Given the description of an element on the screen output the (x, y) to click on. 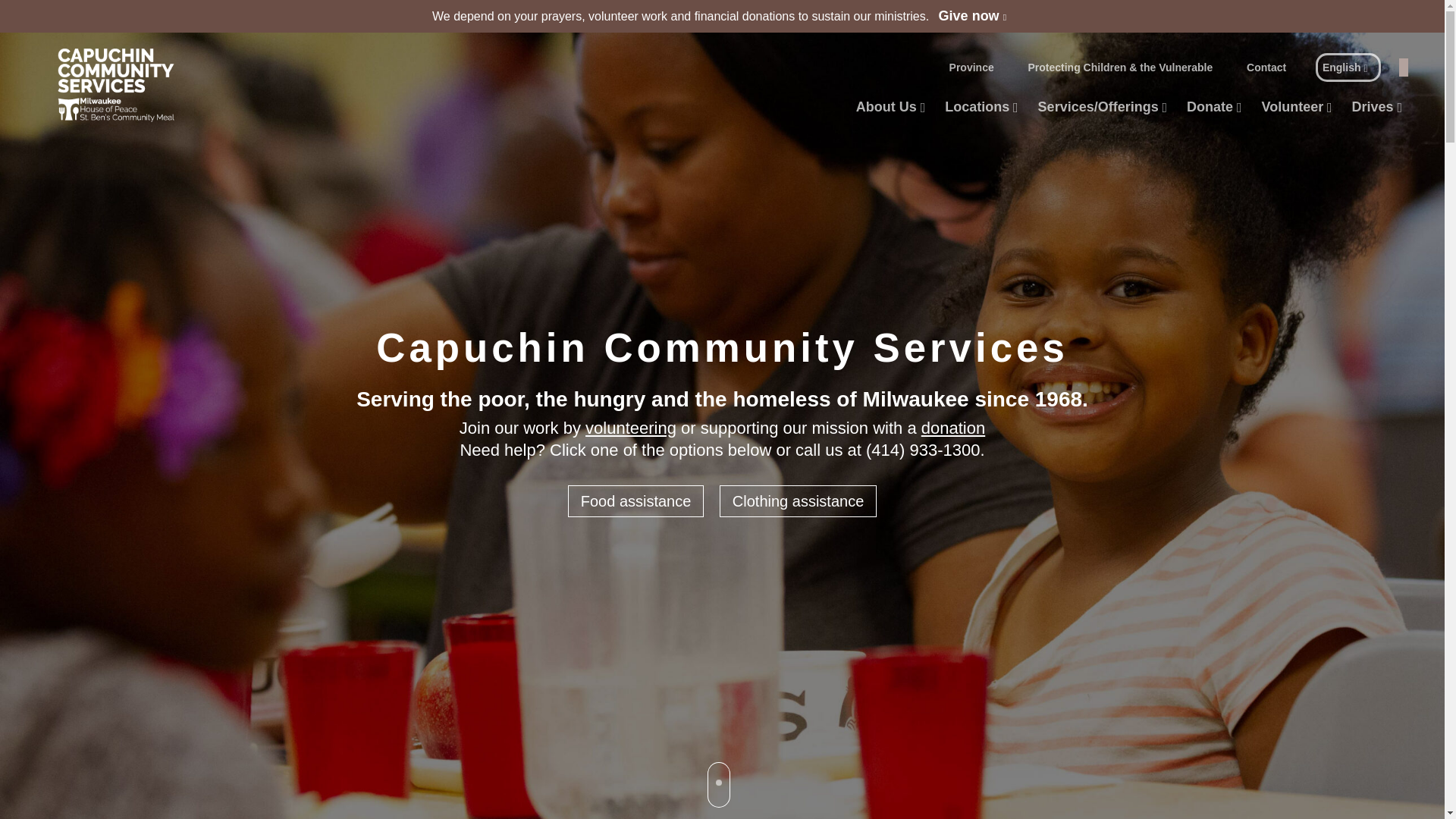
Donate (1209, 106)
Capuchin Community Services (115, 85)
English (1348, 67)
Give now (972, 16)
About Us (886, 106)
Contact (1266, 67)
Locations (976, 106)
Province (970, 67)
